Given the description of an element on the screen output the (x, y) to click on. 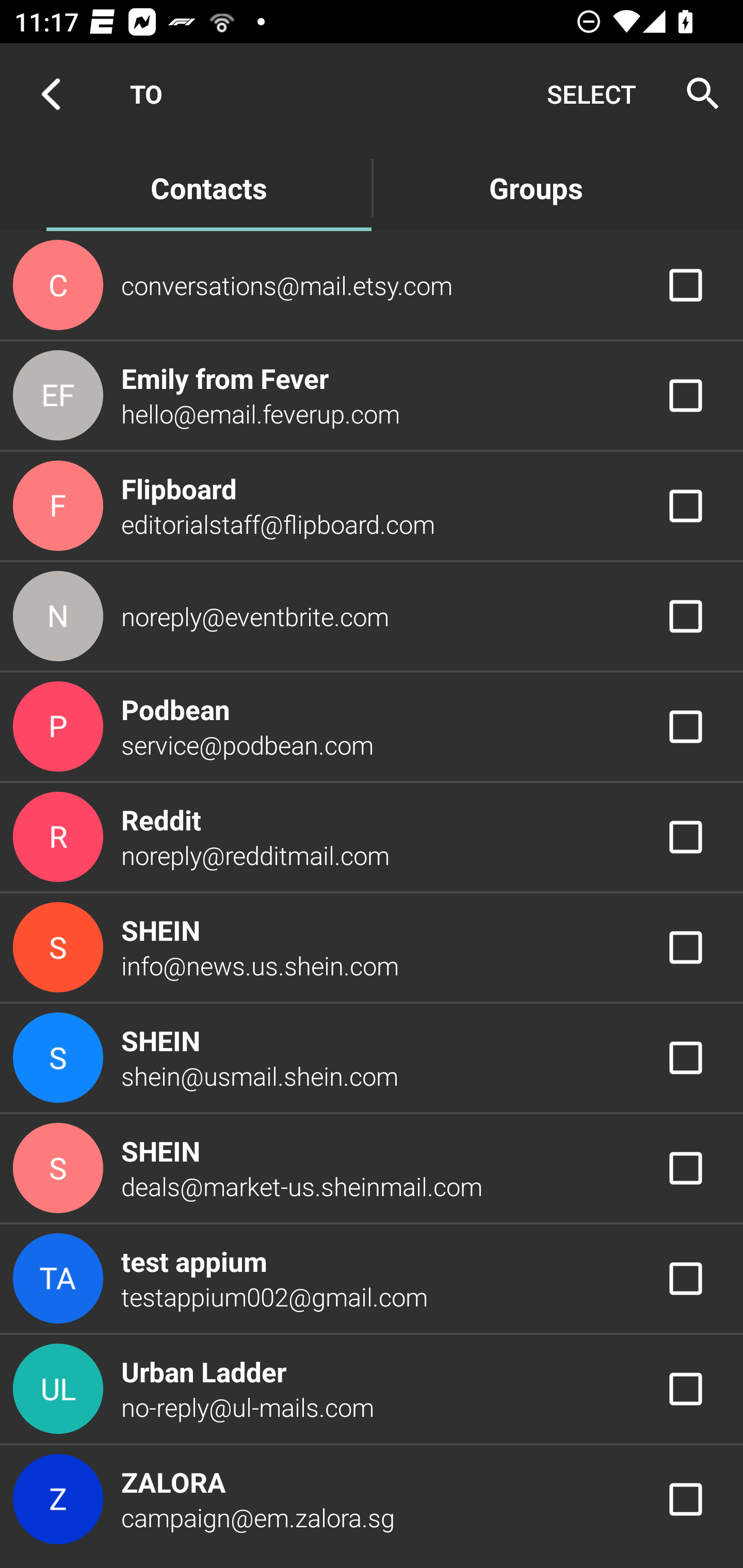
Navigate up (50, 93)
SELECT (590, 93)
Search (696, 93)
Contacts (208, 187)
Groups (535, 187)
conversations@mail.etsy.com (371, 284)
Emily from Fever hello@email.feverup.com (371, 395)
Flipboard editorialstaff@flipboard.com (371, 505)
noreply@eventbrite.com (371, 616)
Podbean service@podbean.com (371, 726)
Reddit noreply@redditmail.com (371, 836)
SHEIN info@news.us.shein.com (371, 947)
SHEIN shein@usmail.shein.com (371, 1057)
SHEIN deals@market-us.sheinmail.com (371, 1168)
test appium testappium002@gmail.com (371, 1278)
Urban Ladder no-reply@ul-mails.com (371, 1388)
ZALORA campaign@em.zalora.sg (371, 1499)
